Given the description of an element on the screen output the (x, y) to click on. 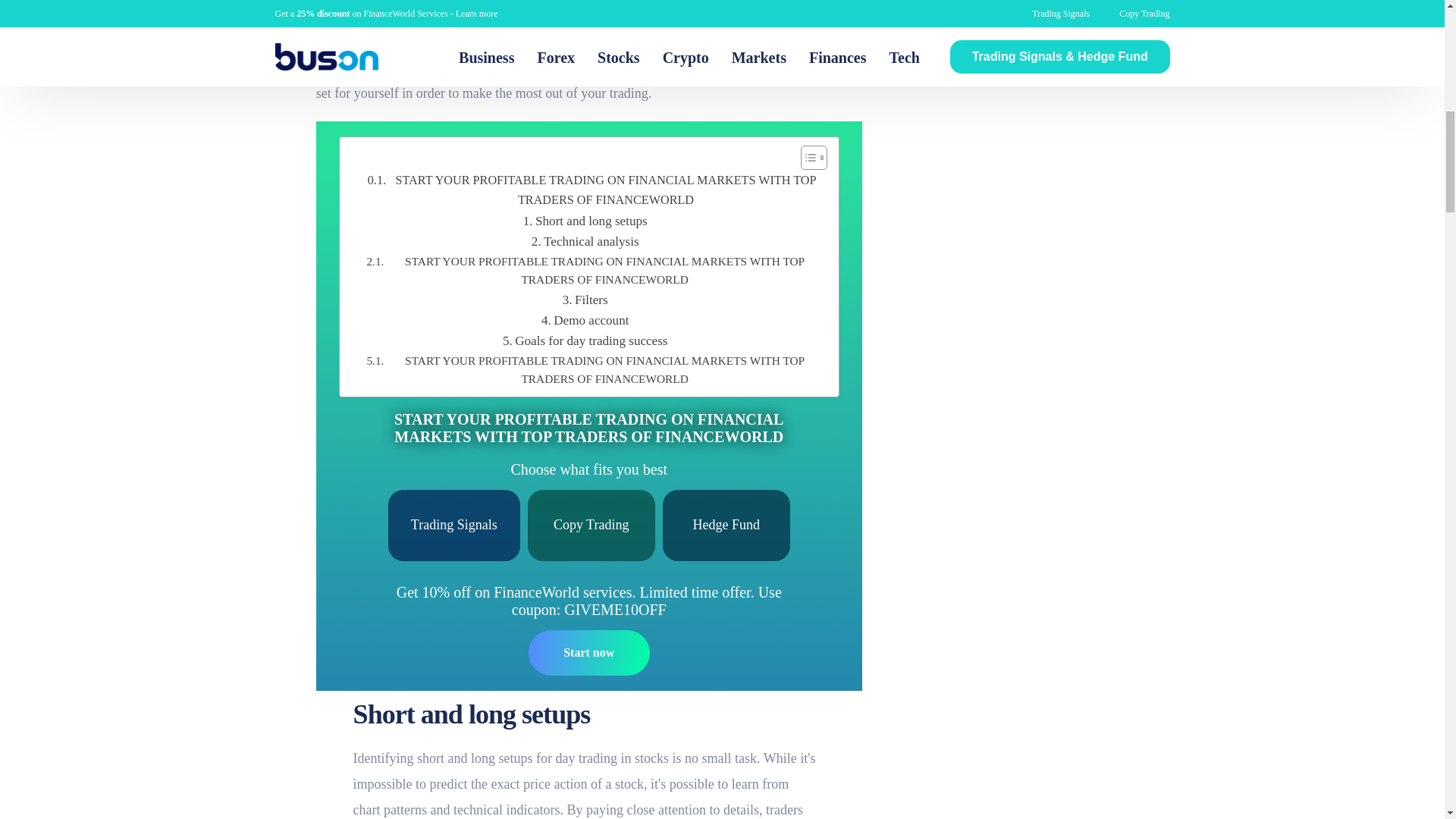
Filters (585, 299)
Demo account (584, 320)
Trading Signals (453, 525)
Goals for day trading success (585, 340)
Posts tagged with trading (335, 41)
Technical analysis (585, 240)
Posts tagged with stocks (651, 758)
Short and long setups (584, 220)
Copy Trading (591, 525)
